Given the description of an element on the screen output the (x, y) to click on. 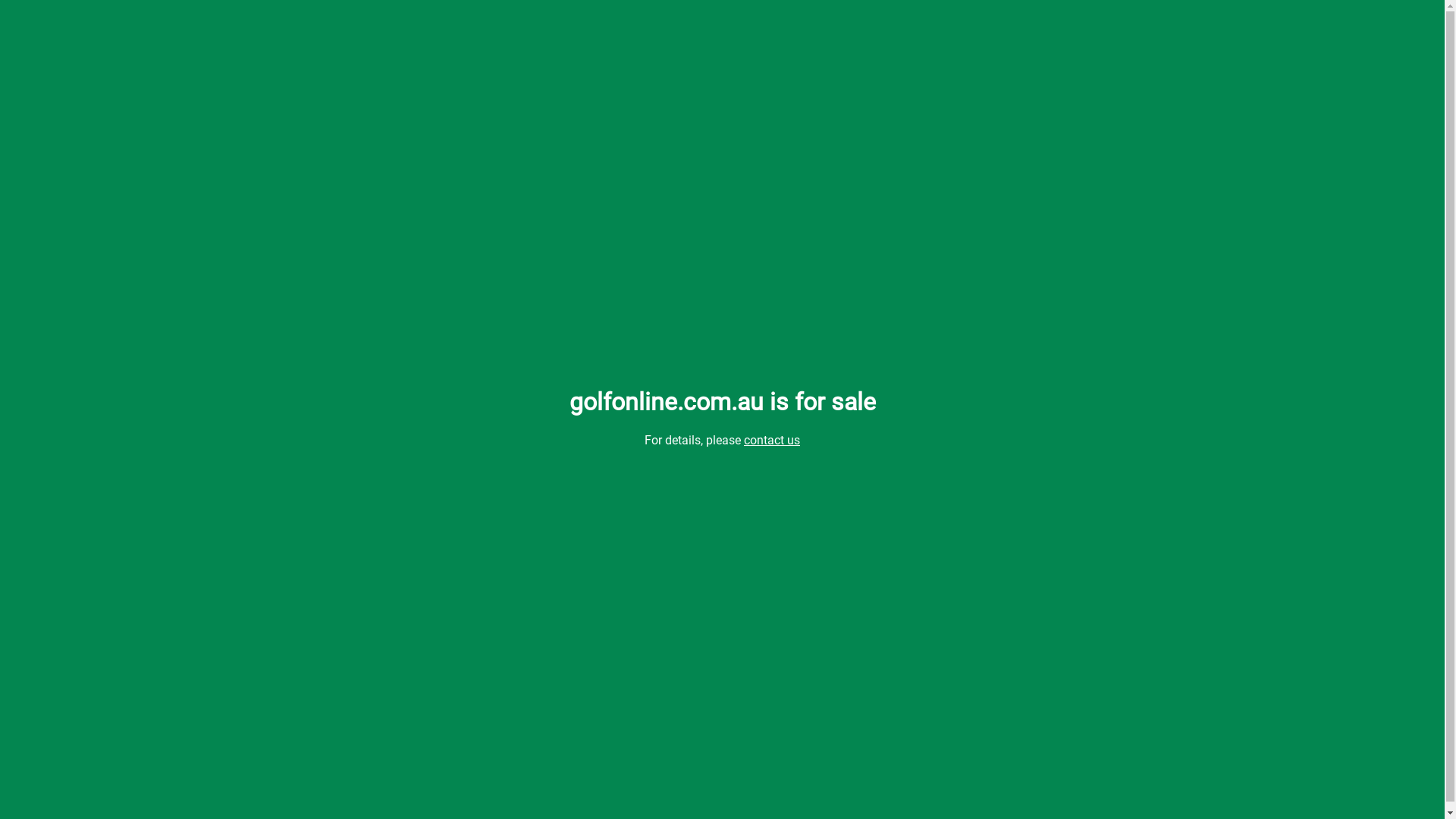
contact us Element type: text (771, 440)
